Given the description of an element on the screen output the (x, y) to click on. 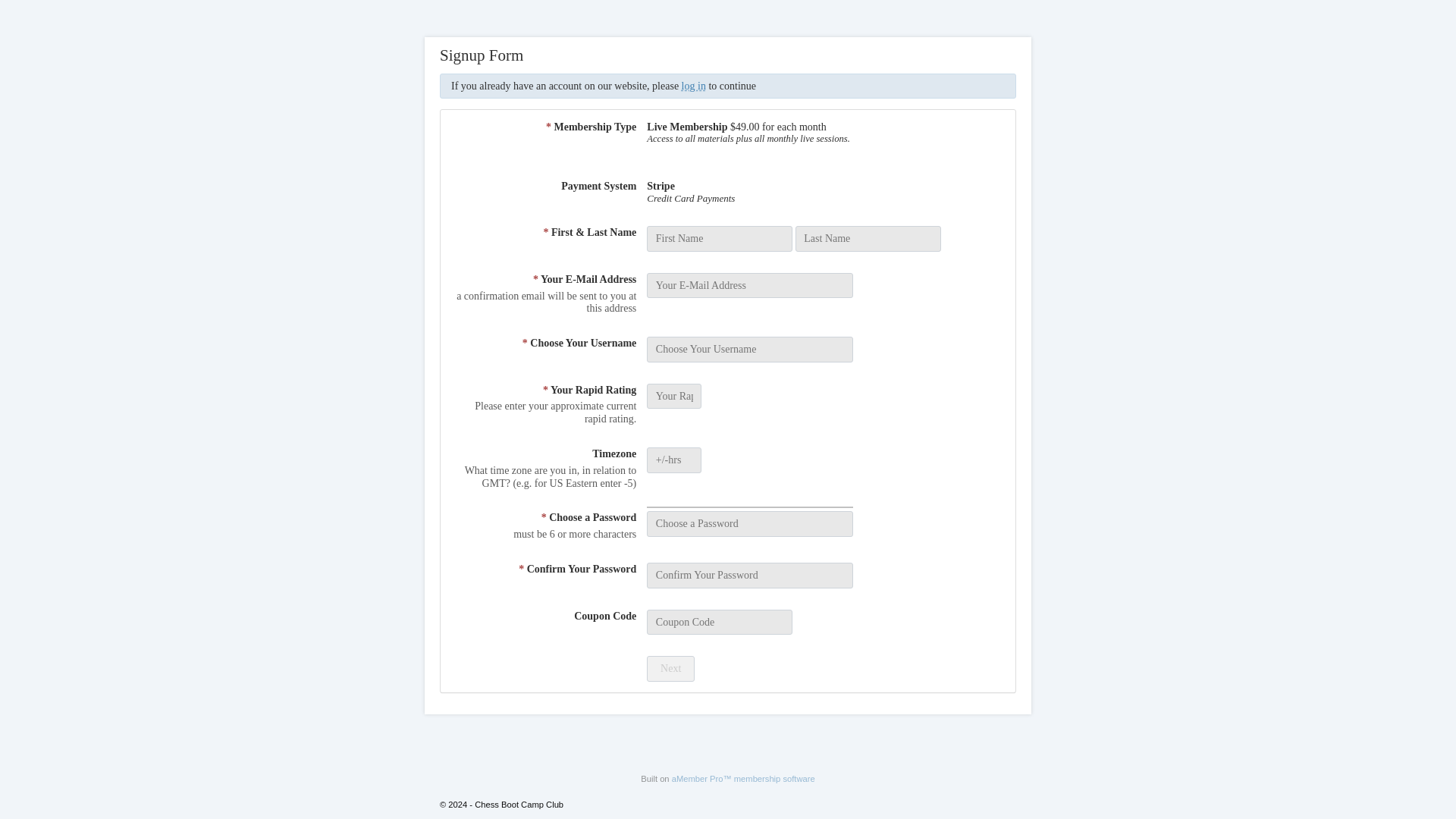
log in (693, 85)
Next (670, 668)
Chess Boot Camp Club (693, 85)
Next (670, 668)
